Given the description of an element on the screen output the (x, y) to click on. 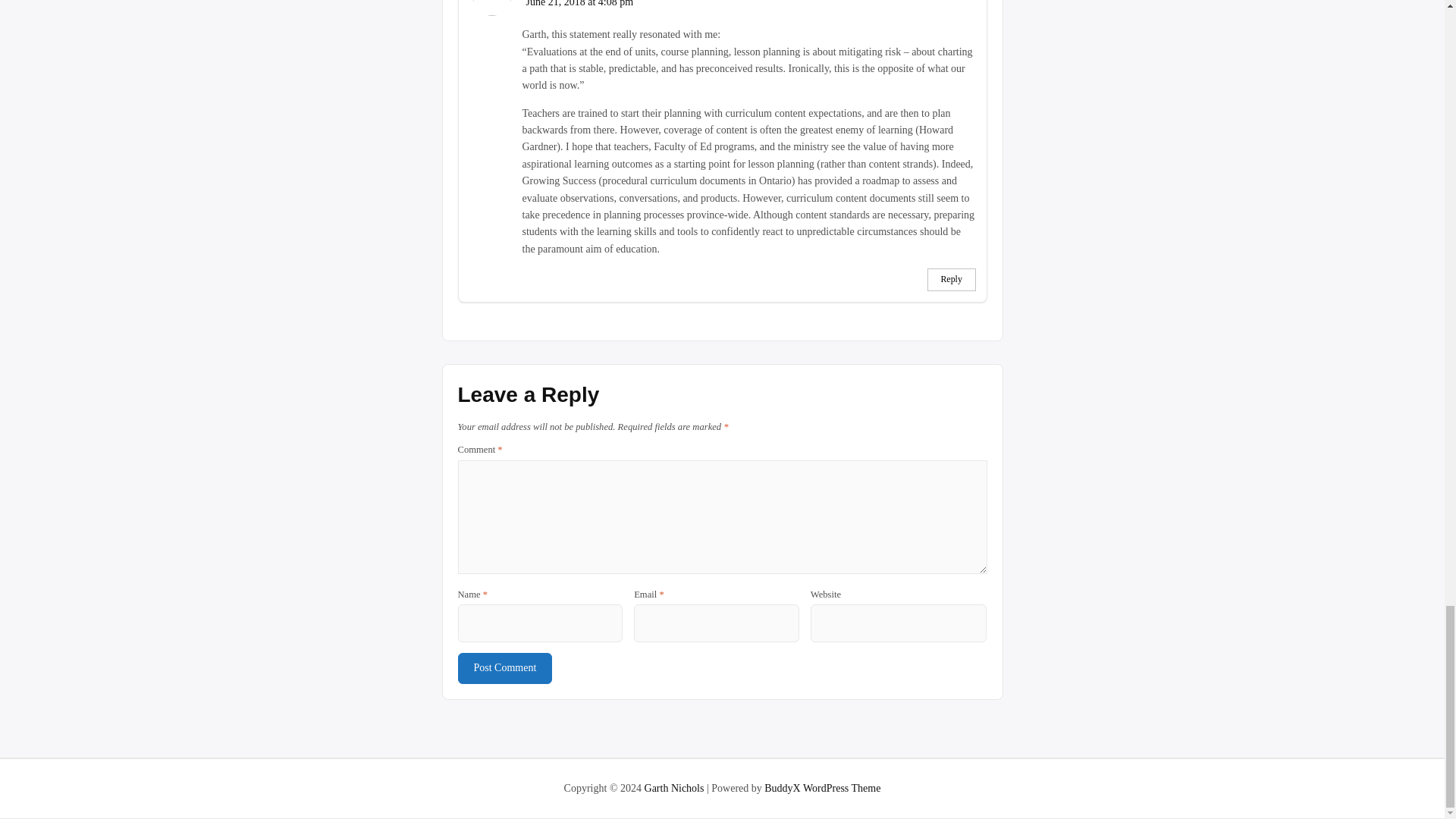
Post Comment (505, 667)
Post Comment (505, 667)
BuddyX WordPress Theme (822, 787)
June 21, 2018 at 4:08 pm (579, 3)
Garth Nichols (674, 787)
Reply (951, 279)
